Given the description of an element on the screen output the (x, y) to click on. 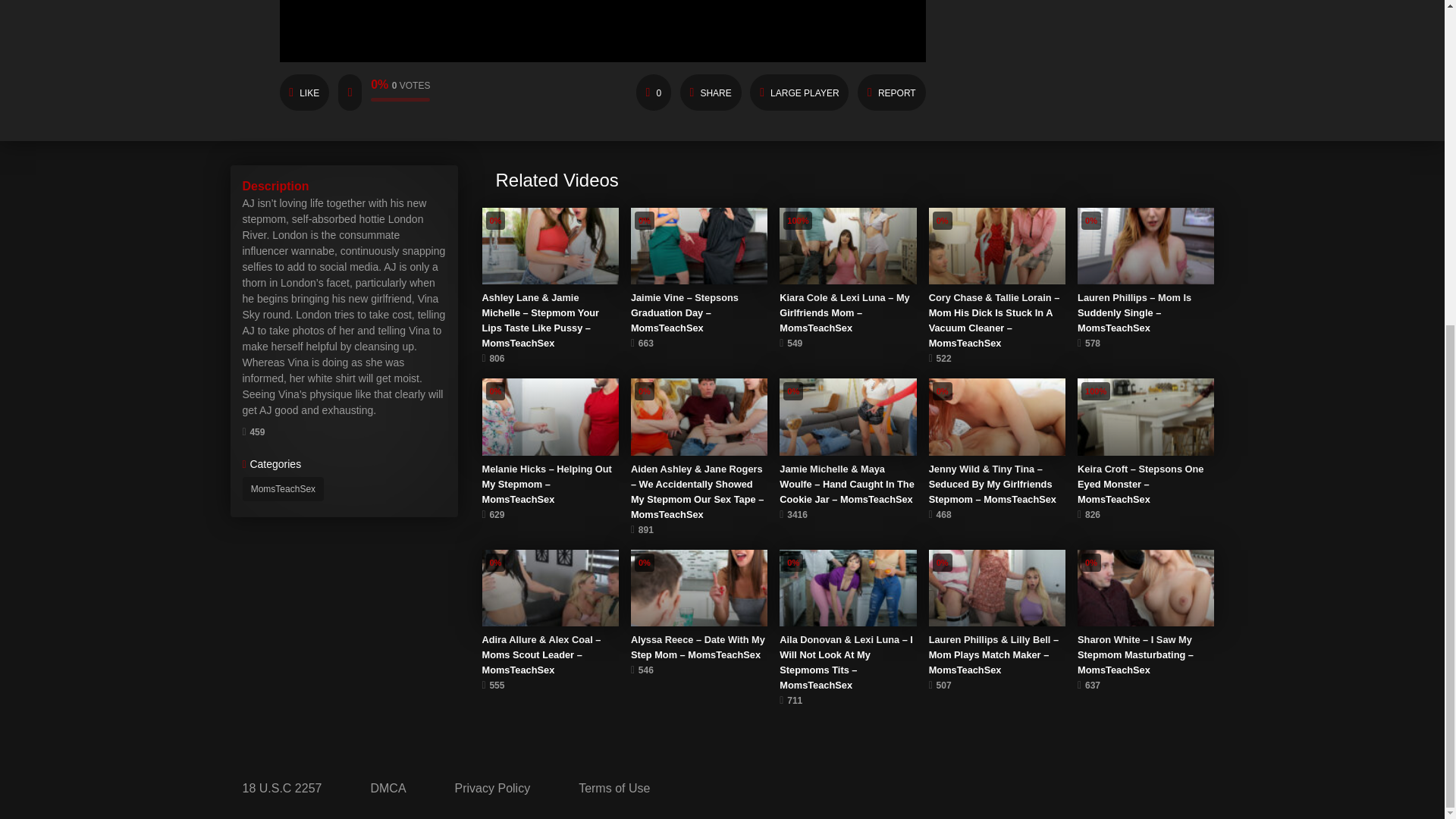
DMCA (387, 788)
Terms of Use (614, 788)
0 (653, 92)
18 U.S.C 2257 (282, 788)
Privacy Policy (492, 788)
MomsTeachSex (283, 488)
LIKE (304, 92)
